Given the description of an element on the screen output the (x, y) to click on. 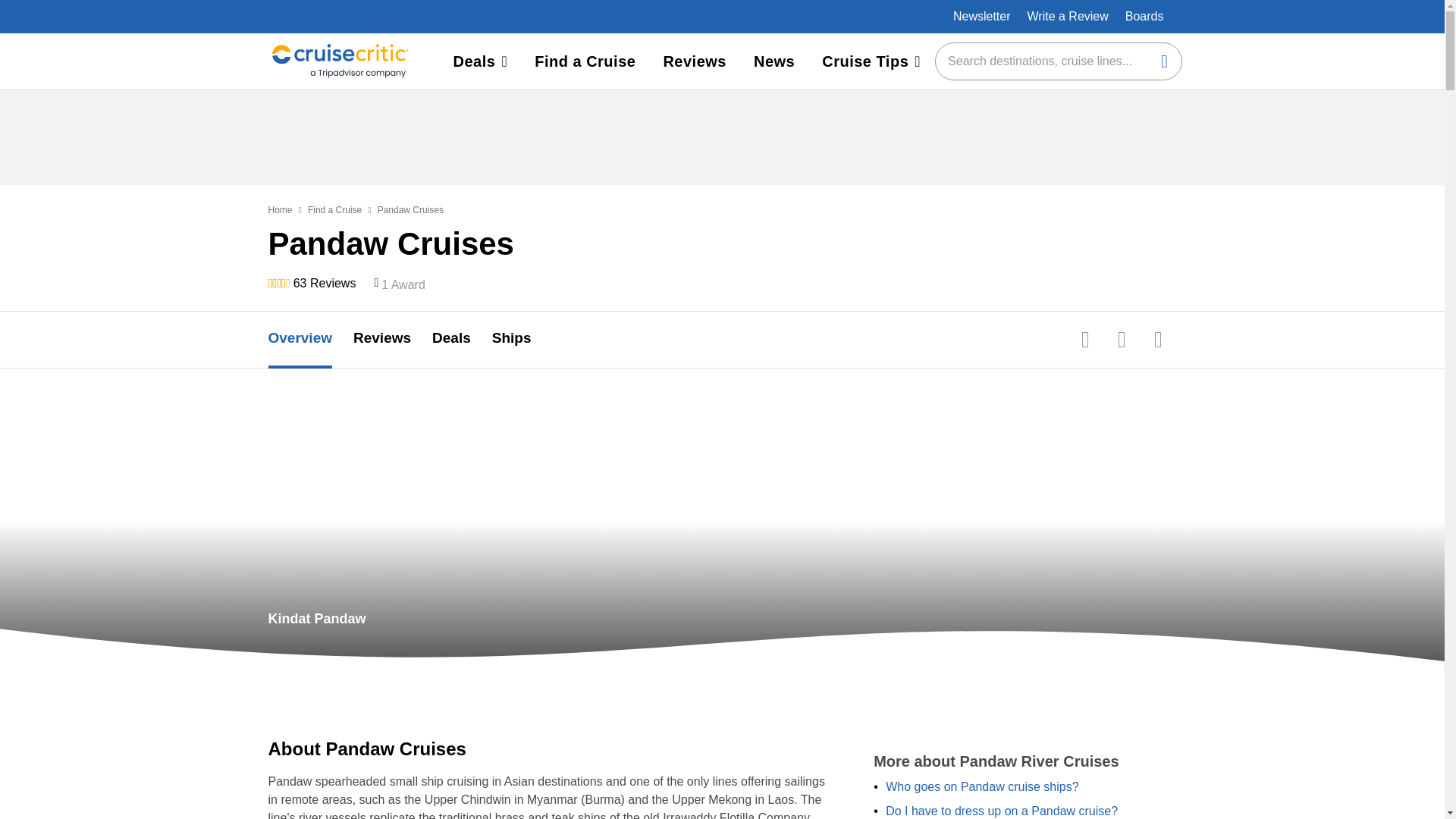
Newsletter (981, 16)
Deals (480, 61)
Find a Cruise (585, 61)
Reviews (392, 339)
Overview (310, 339)
Find a Cruise (334, 210)
Home (279, 210)
Write a Review (1066, 16)
Cruise Tips (871, 61)
1 Award (403, 284)
